Given the description of an element on the screen output the (x, y) to click on. 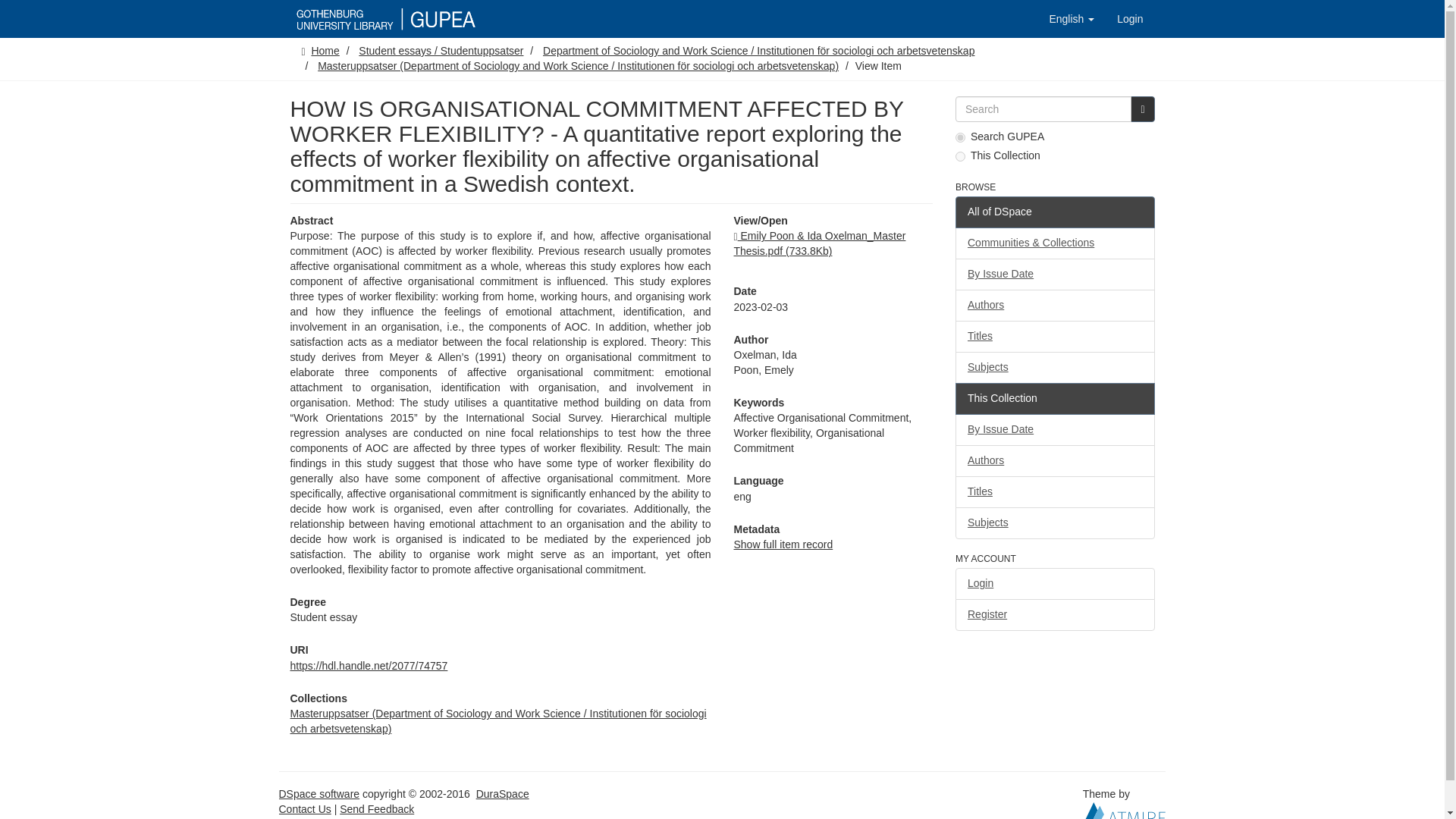
Go (1142, 109)
English  (1070, 18)
All of DSpace (1054, 212)
Subjects (1054, 368)
Authors (1054, 305)
Login (1129, 18)
By Issue Date (1054, 274)
This Collection (1054, 398)
Home (325, 50)
Titles (1054, 336)
